Given the description of an element on the screen output the (x, y) to click on. 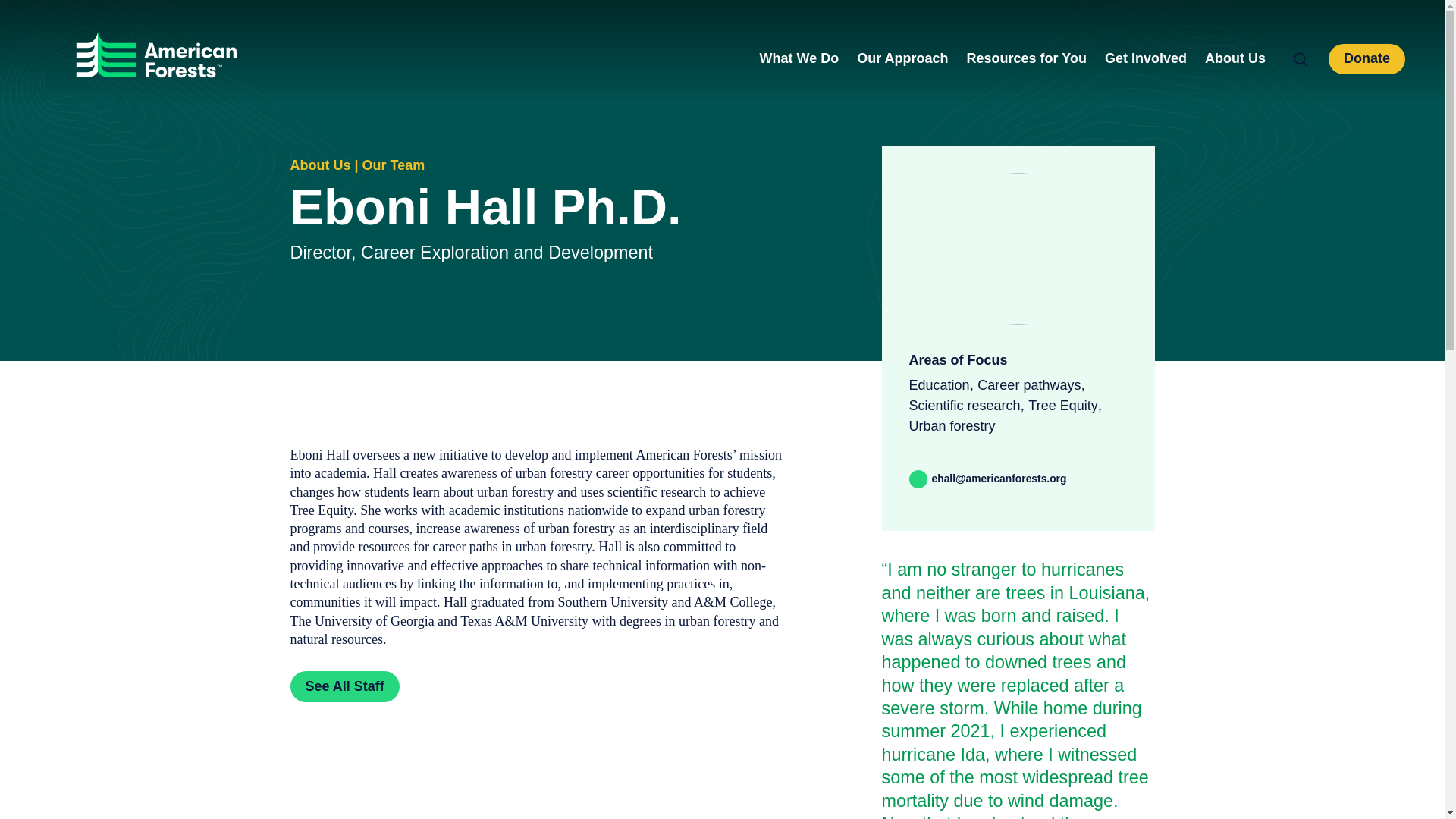
Our Approach (902, 58)
What We Do (800, 58)
Resources for You (1026, 58)
